Given the description of an element on the screen output the (x, y) to click on. 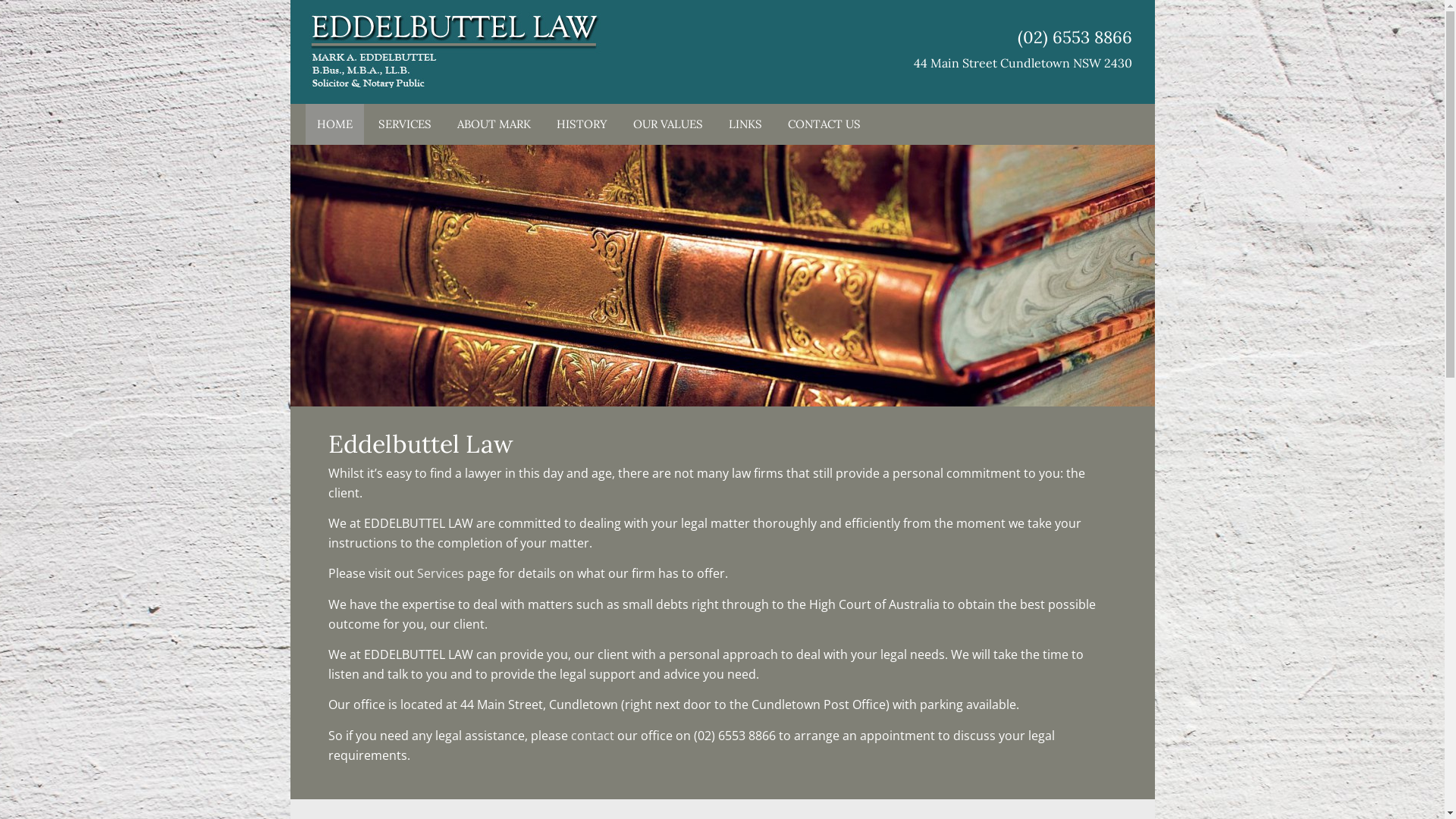
CONTACT US Element type: text (824, 123)
LINKS Element type: text (745, 123)
OUR VALUES Element type: text (667, 123)
contact Element type: text (591, 735)
Skip to primary navigation Element type: text (289, 0)
ABOUT MARK Element type: text (493, 123)
Services Element type: text (440, 572)
HISTORY Element type: text (581, 123)
Eddelbuttel Law Element type: hover (455, 51)
HOME Element type: text (333, 123)
SERVICES Element type: text (404, 123)
